Given the description of an element on the screen output the (x, y) to click on. 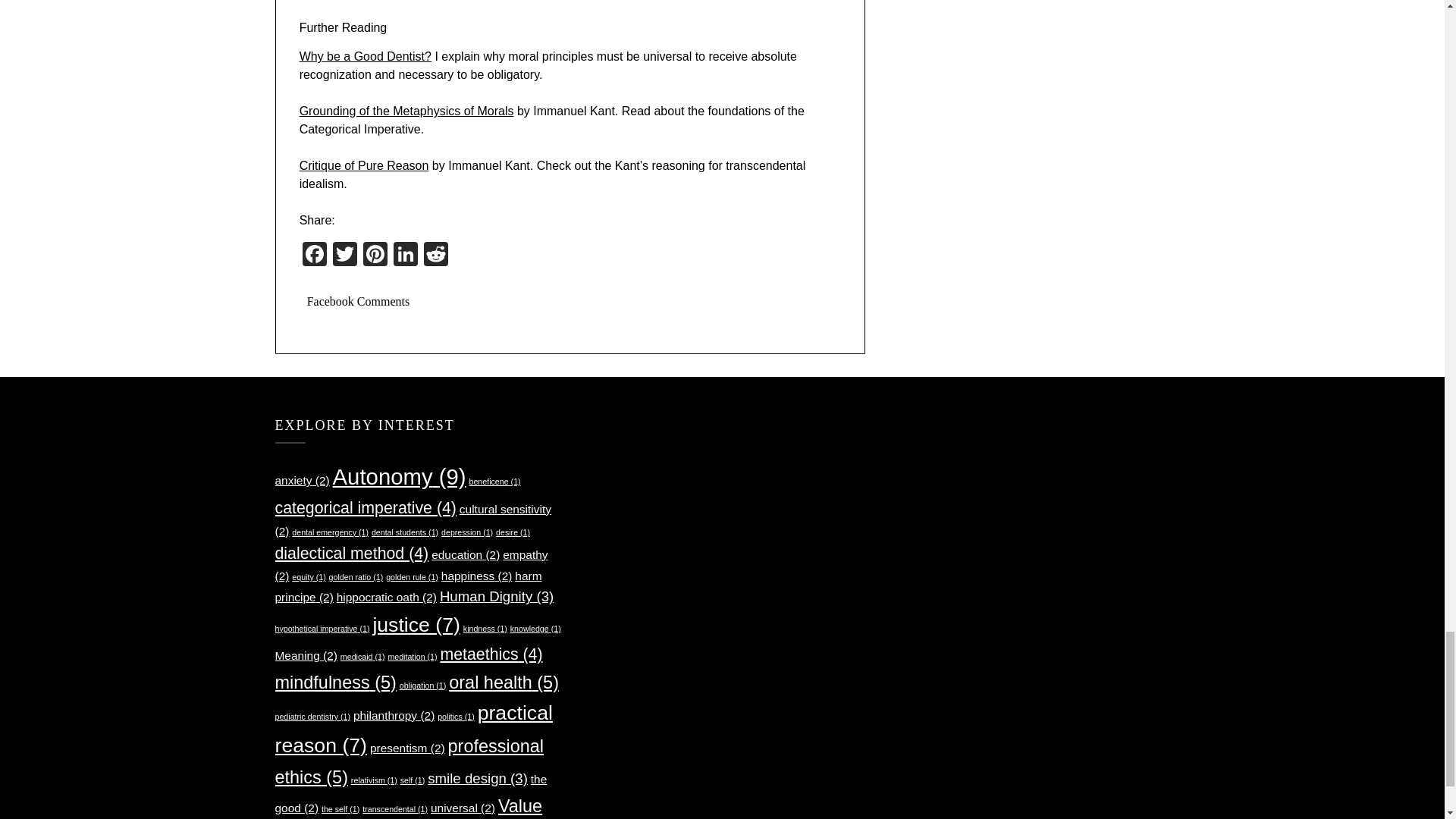
Facebook (314, 255)
Twitter (344, 255)
Pinterest (374, 255)
Pinterest (374, 255)
Why be a Good Dentist? (364, 56)
Facebook (314, 255)
Reddit (435, 255)
Grounding of the Metaphysics of Morals (406, 110)
Reddit (435, 255)
Critique of Pure Reason (364, 164)
Twitter (344, 255)
LinkedIn (405, 255)
LinkedIn (405, 255)
